Given the description of an element on the screen output the (x, y) to click on. 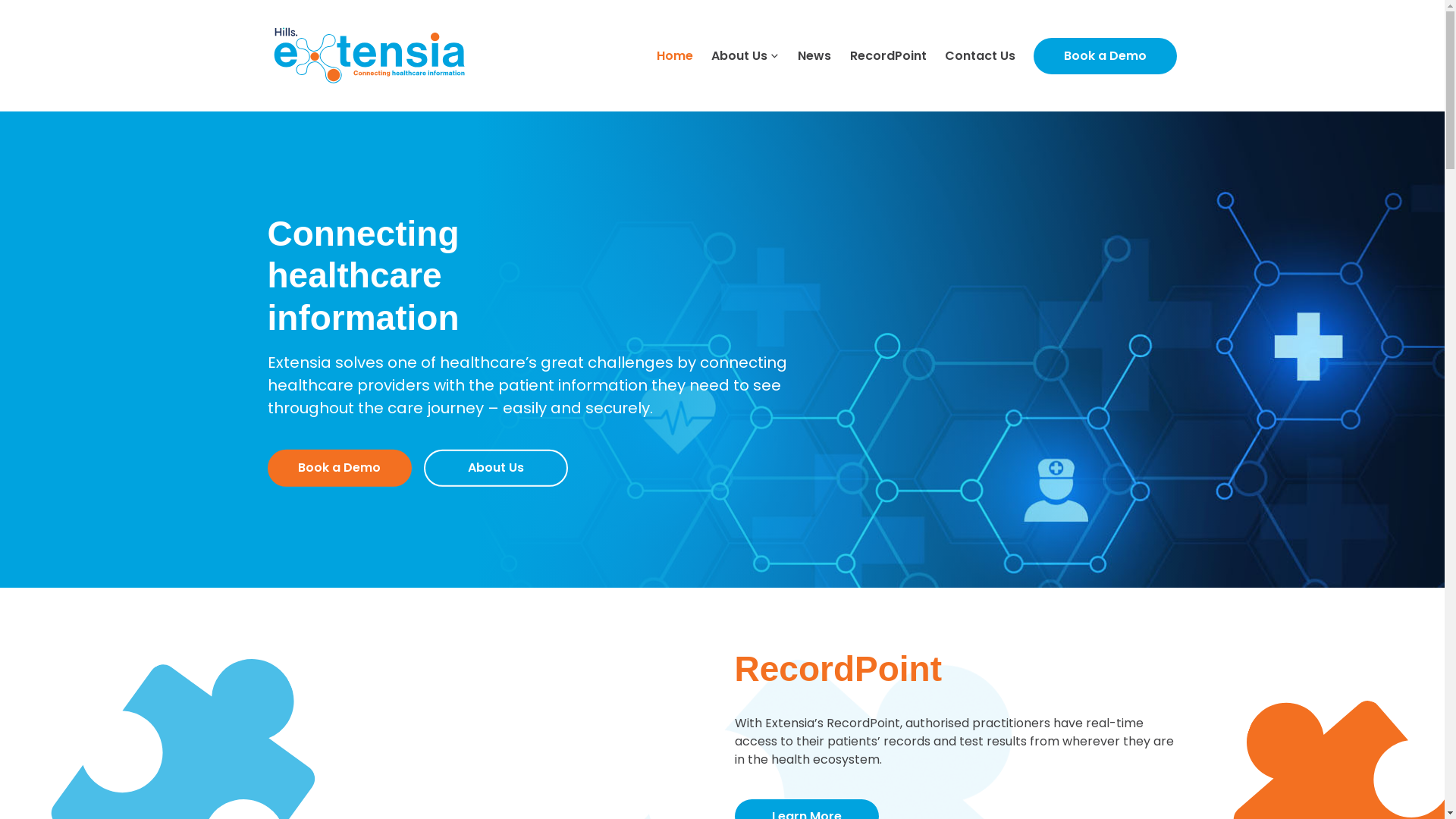
News Element type: text (814, 55)
Book a Demo Element type: text (338, 467)
Home Element type: text (674, 55)
Contact Us Element type: text (979, 55)
About Us Element type: text (745, 55)
About Us Element type: text (495, 467)
RecordPoint Element type: text (888, 55)
Book a Demo Element type: text (1104, 55)
